Given the description of an element on the screen output the (x, y) to click on. 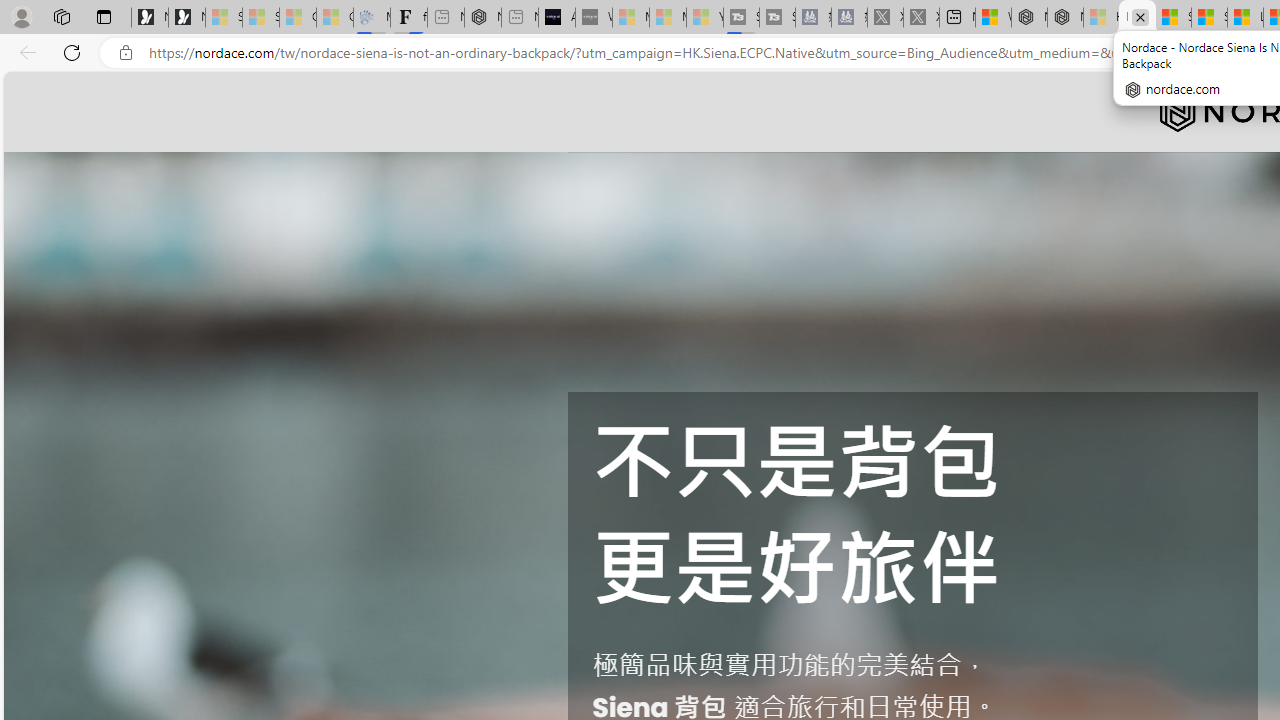
Microsoft Start Sports - Sleeping (630, 17)
